Given the description of an element on the screen output the (x, y) to click on. 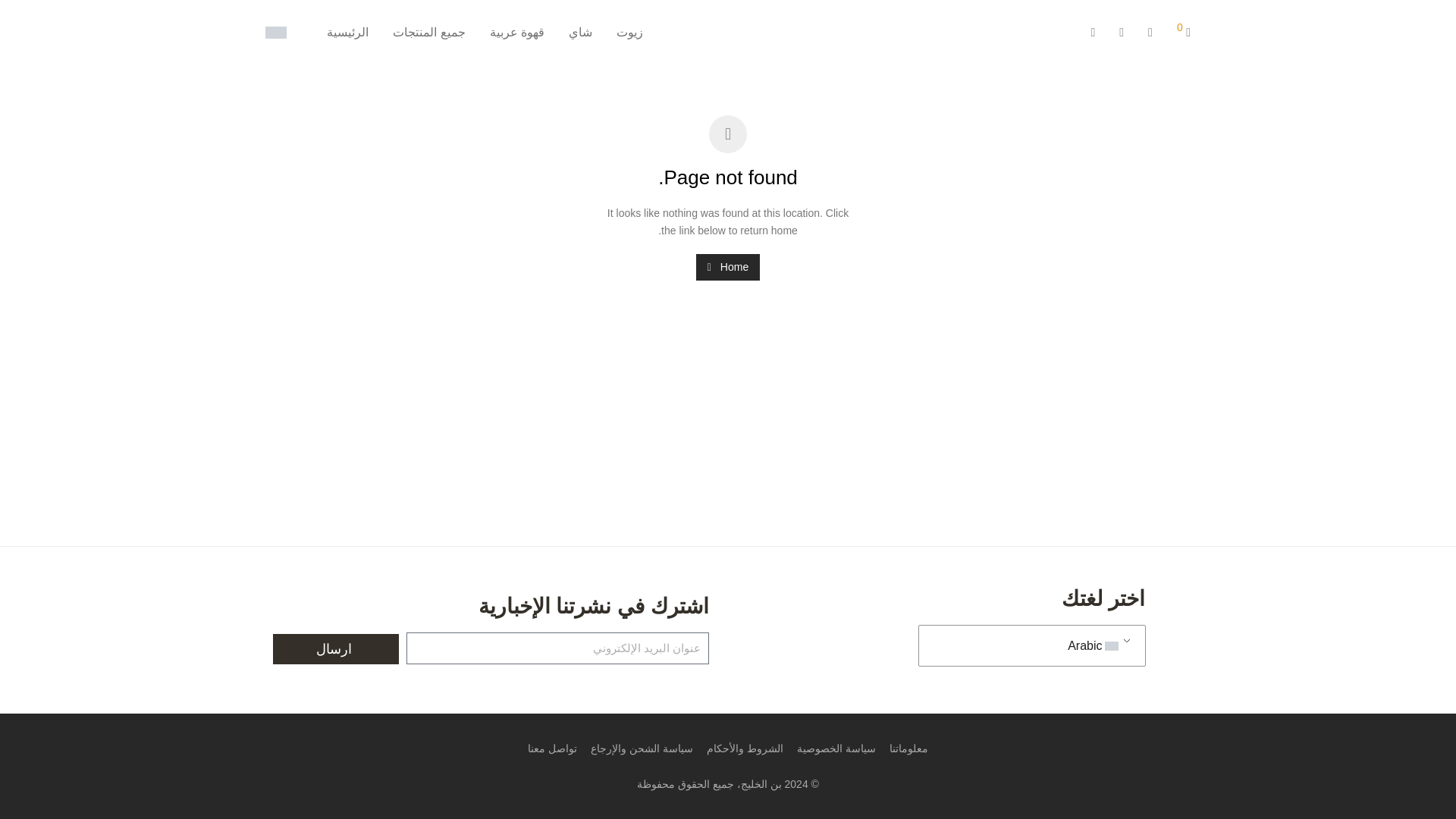
Arabic (1028, 645)
Home (727, 266)
0 (1183, 32)
Arabic (1110, 645)
Arabic (1028, 645)
